Given the description of an element on the screen output the (x, y) to click on. 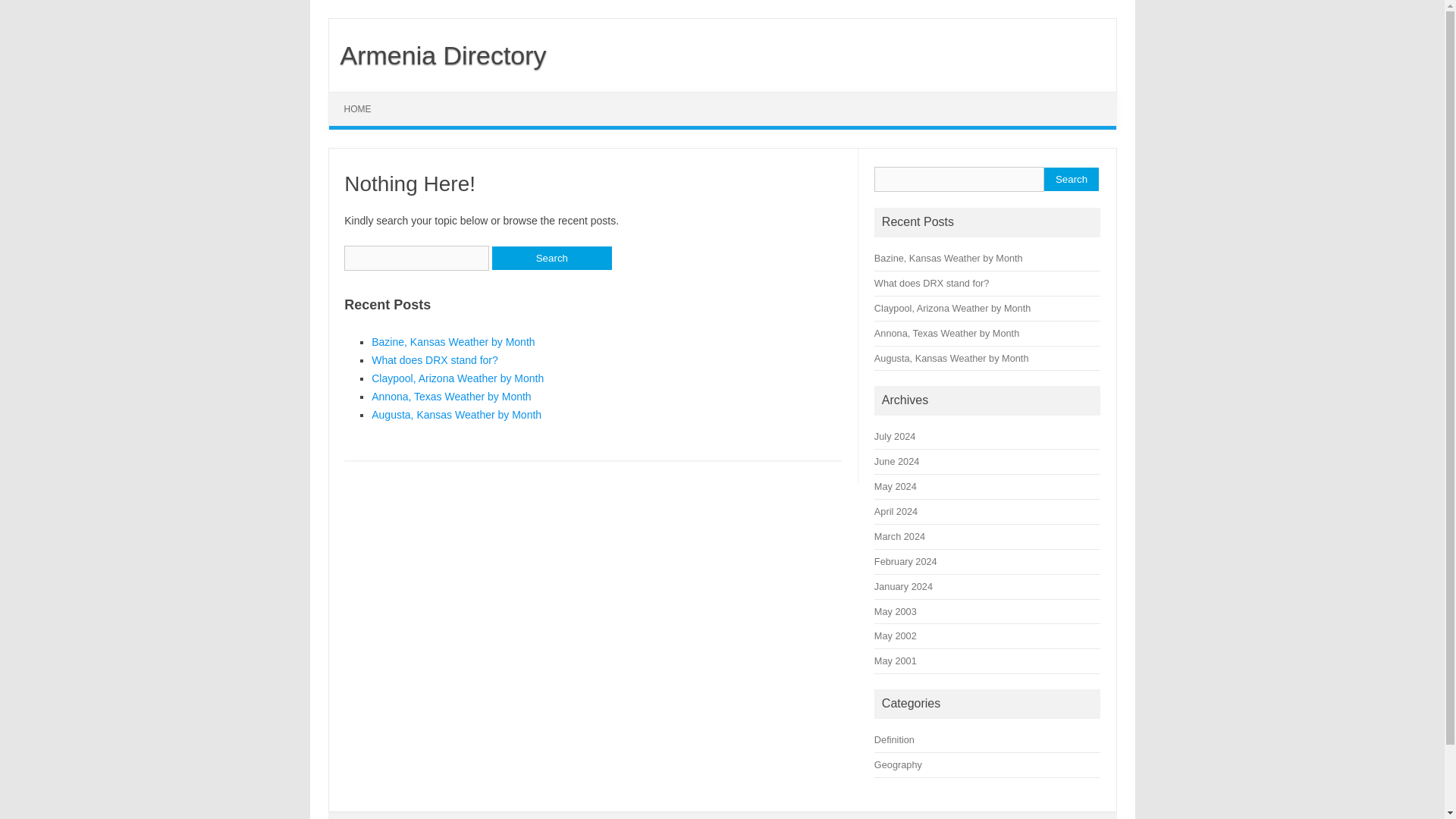
Augusta, Kansas Weather by Month (456, 414)
July 2024 (895, 436)
HOME (358, 109)
Augusta, Kansas Weather by Month (952, 357)
Search (1070, 178)
May 2003 (896, 611)
June 2024 (896, 460)
Annona, Texas Weather by Month (451, 396)
Bazine, Kansas Weather by Month (949, 257)
Skip to content (363, 96)
May 2002 (896, 635)
April 2024 (896, 511)
May 2024 (896, 486)
May 2001 (896, 660)
January 2024 (904, 586)
